Given the description of an element on the screen output the (x, y) to click on. 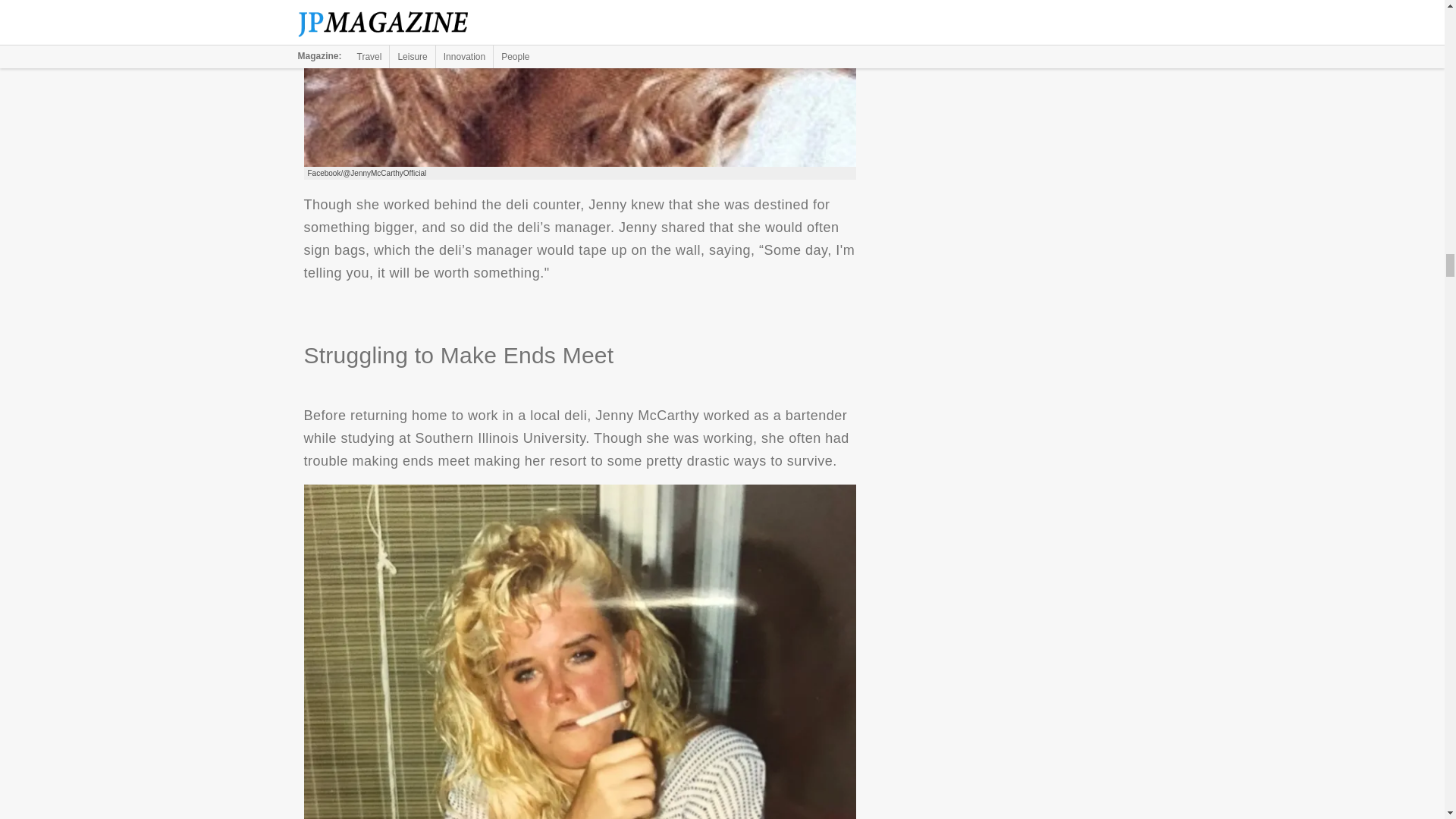
Now What? (579, 83)
